Given the description of an element on the screen output the (x, y) to click on. 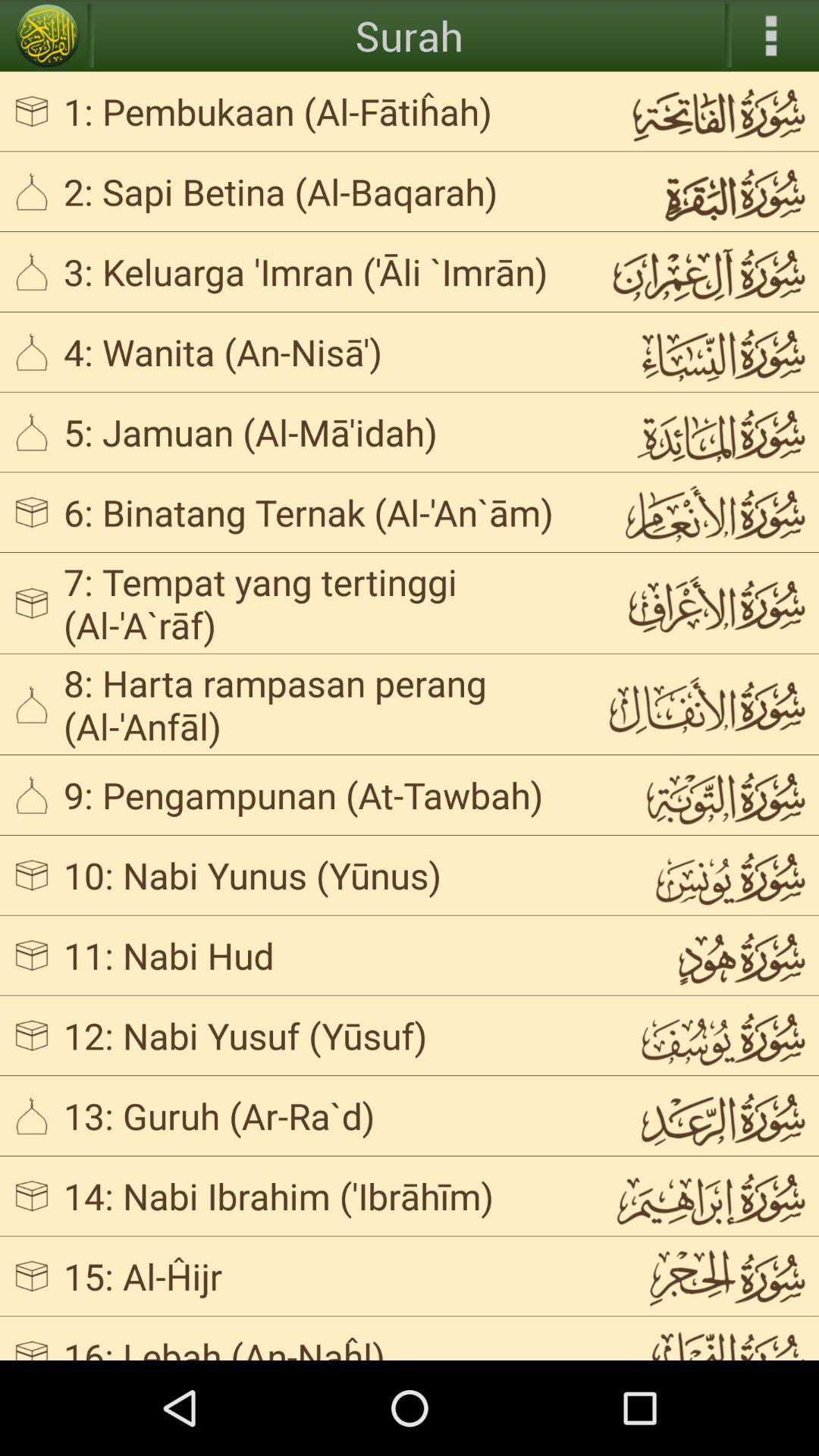
turn off the 6 binatang ternak icon (322, 511)
